Given the description of an element on the screen output the (x, y) to click on. 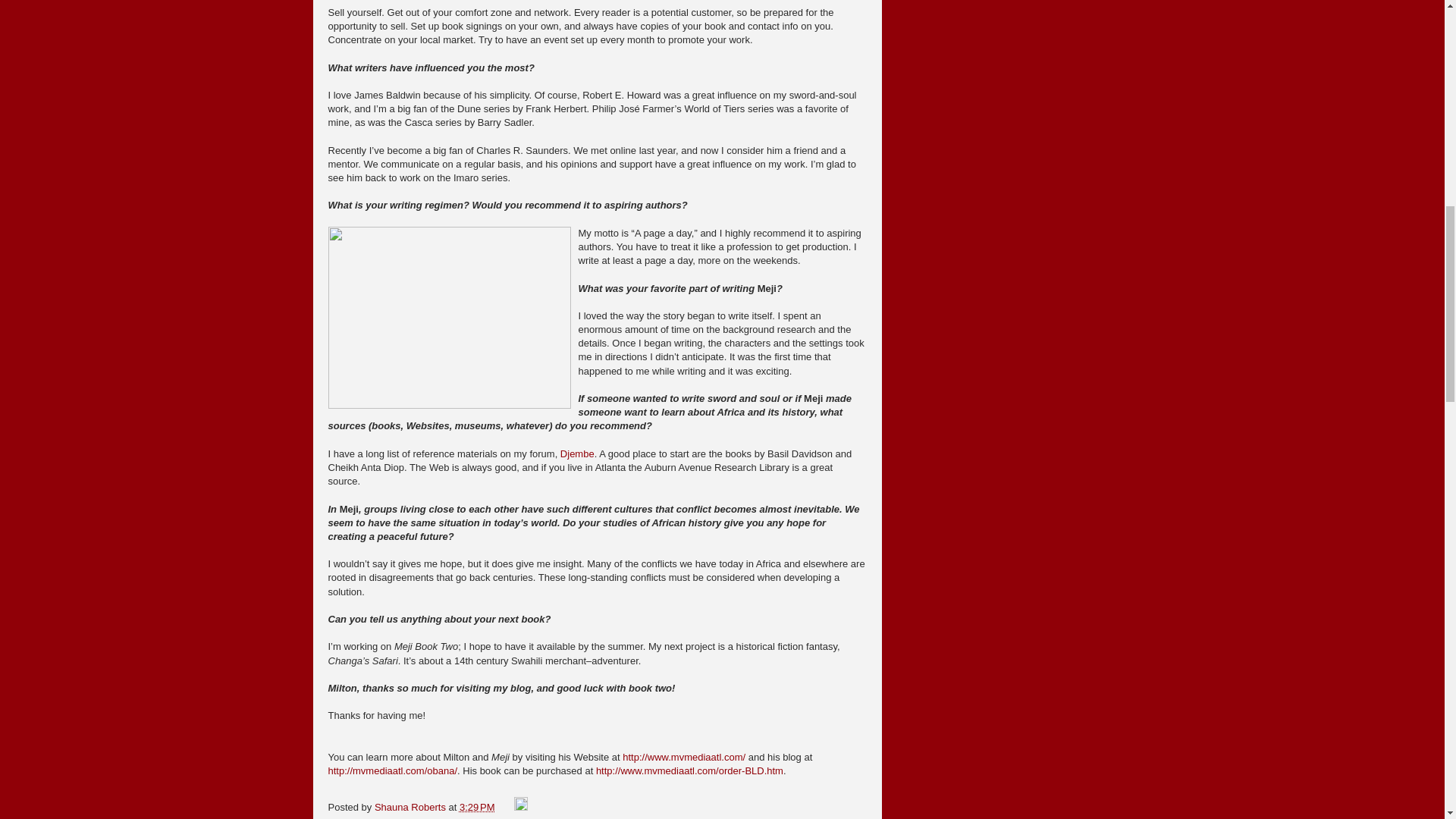
Djembe (577, 453)
Share to Facebook (525, 818)
author profile (411, 807)
Email This (349, 818)
Share to Pinterest (606, 818)
Share to Twitter (448, 818)
BlogThis! (394, 818)
Email This (349, 818)
Share to Facebook (525, 818)
Shauna Roberts (411, 807)
